Given the description of an element on the screen output the (x, y) to click on. 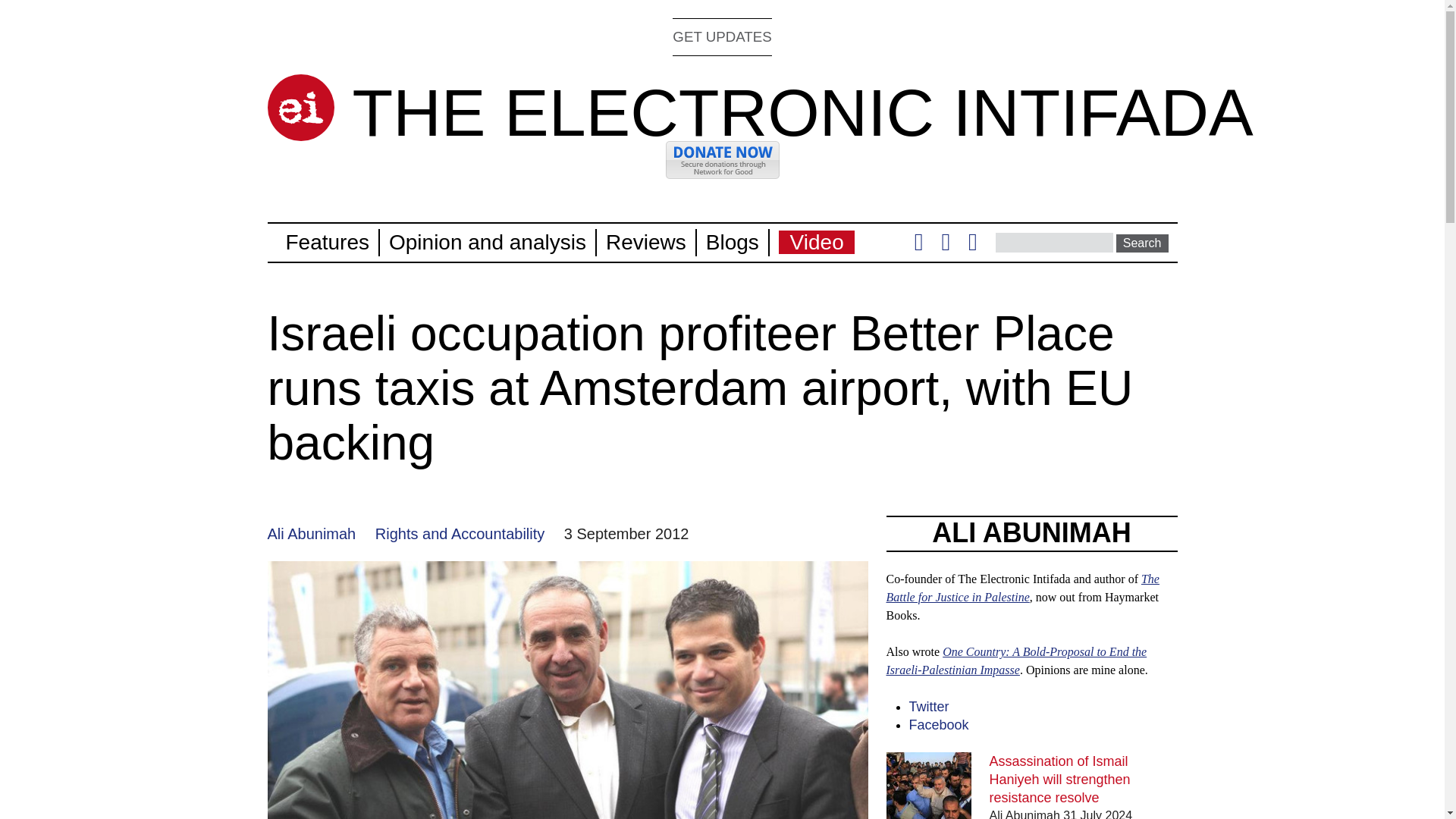
Home (299, 107)
Home (802, 112)
Enter the terms you wish to search for. (1054, 242)
GET UPDATES (721, 37)
Twitter (918, 245)
Facebook (945, 245)
THE ELECTRONIC INTIFADA (802, 112)
Rights and Accountability (459, 533)
Search (1142, 243)
Ali Abunimah (310, 533)
YouTube (972, 245)
